Given the description of an element on the screen output the (x, y) to click on. 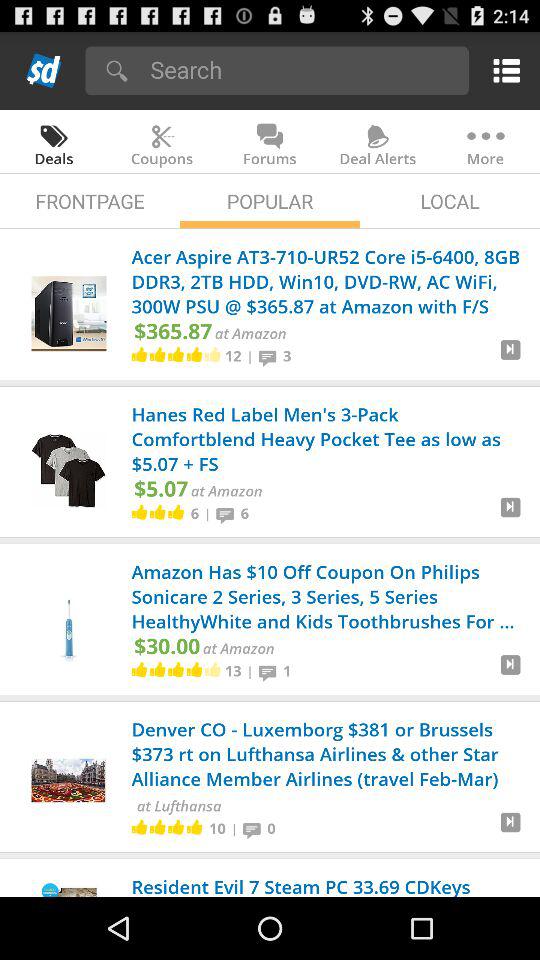
press at lufthansa (178, 805)
